Given the description of an element on the screen output the (x, y) to click on. 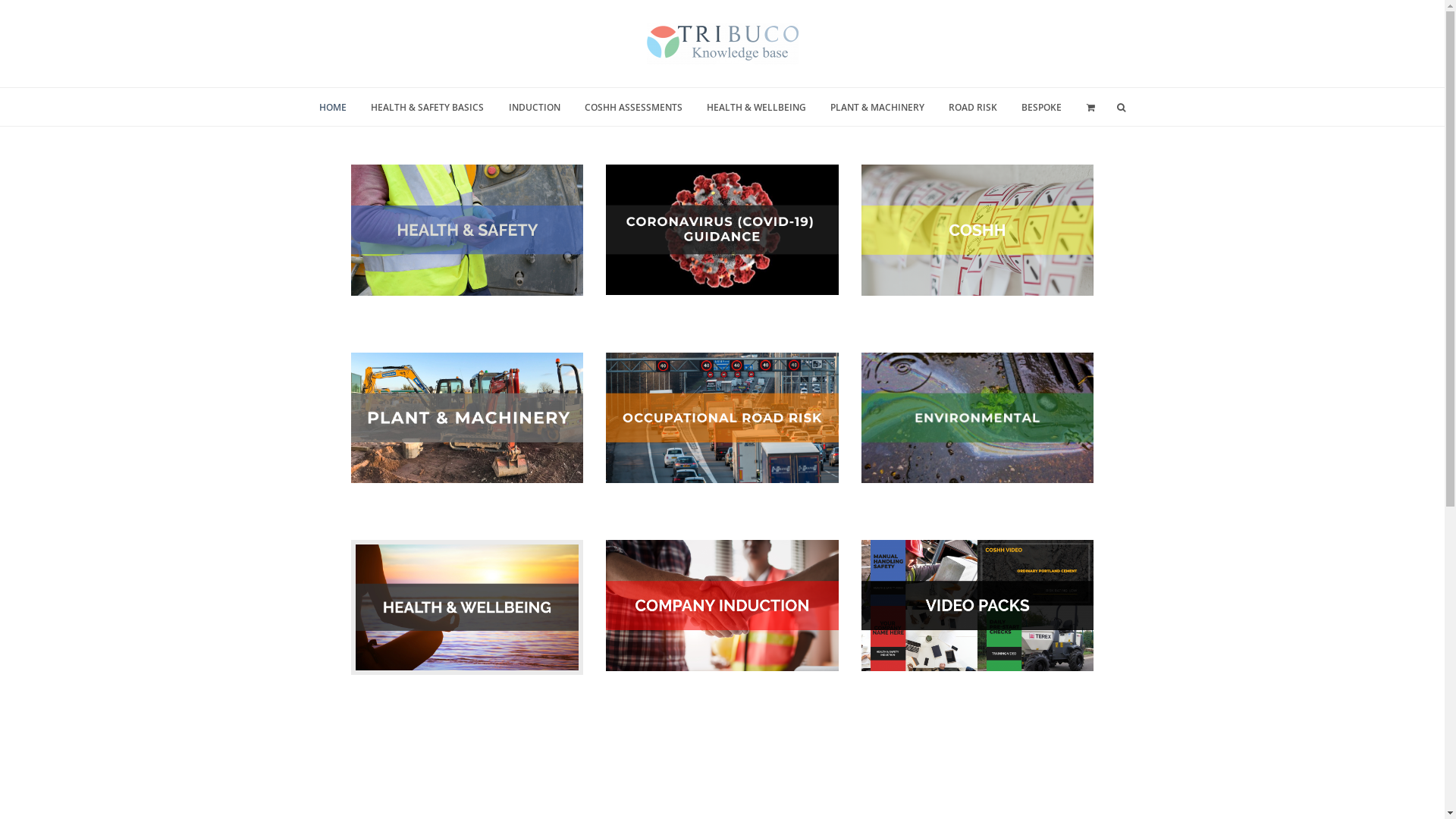
HOME Element type: text (332, 106)
BESPOKE Element type: text (1041, 106)
PLANT & MACHINERY Element type: text (877, 106)
HEALTH & SAFETY BASICS Element type: text (427, 106)
INDUCTION Element type: text (534, 106)
ROAD RISK Element type: text (973, 106)
HEALTH & WELLBEING Element type: text (755, 106)
COSHH ASSESSMENTS Element type: text (633, 106)
Search Element type: text (24, 13)
